Given the description of an element on the screen output the (x, y) to click on. 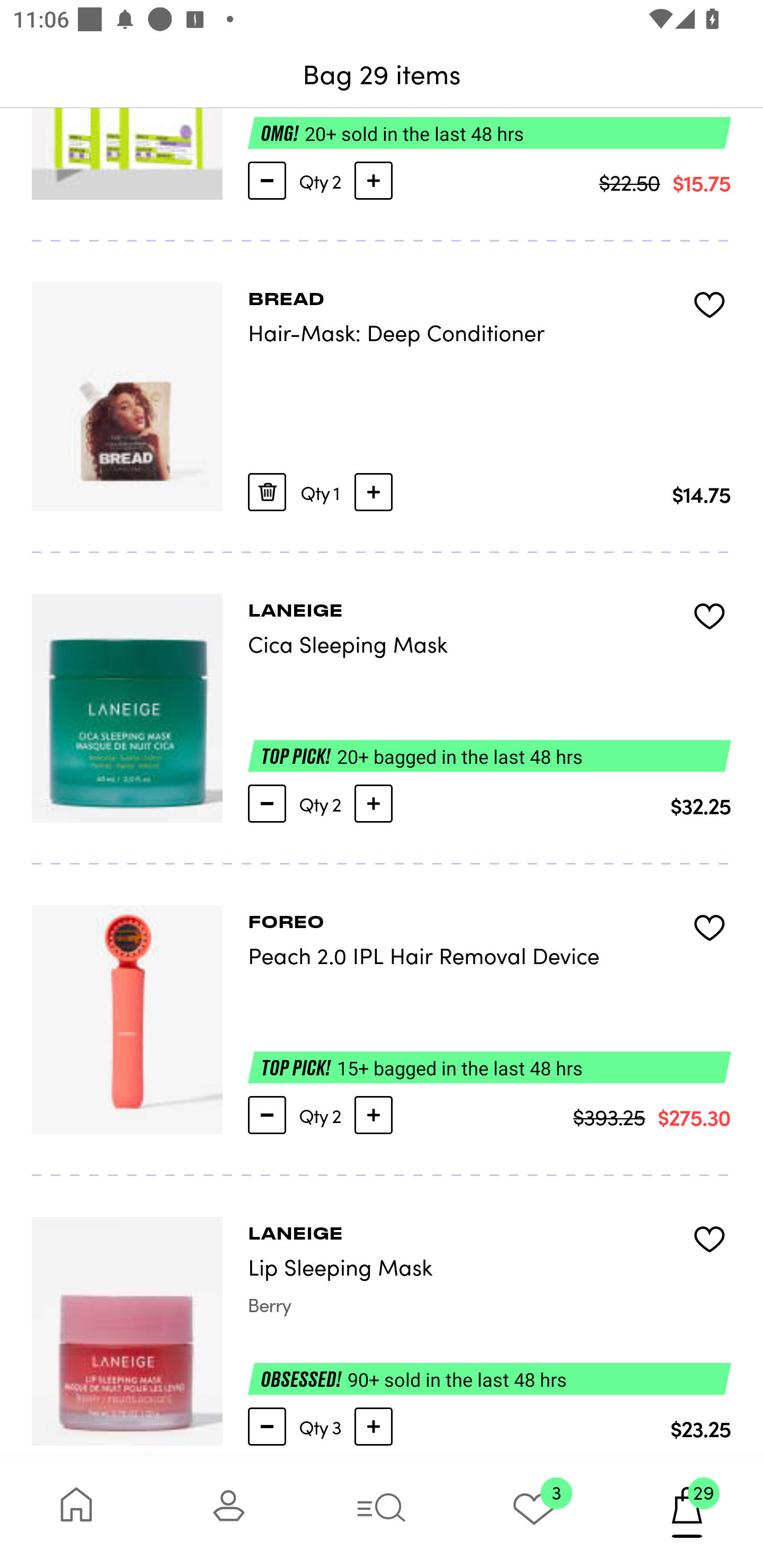
BREAD Hair-Mask: Deep Conditioner Qty 1 $14.75 (381, 397)
3 (533, 1512)
29 (686, 1512)
